Given the description of an element on the screen output the (x, y) to click on. 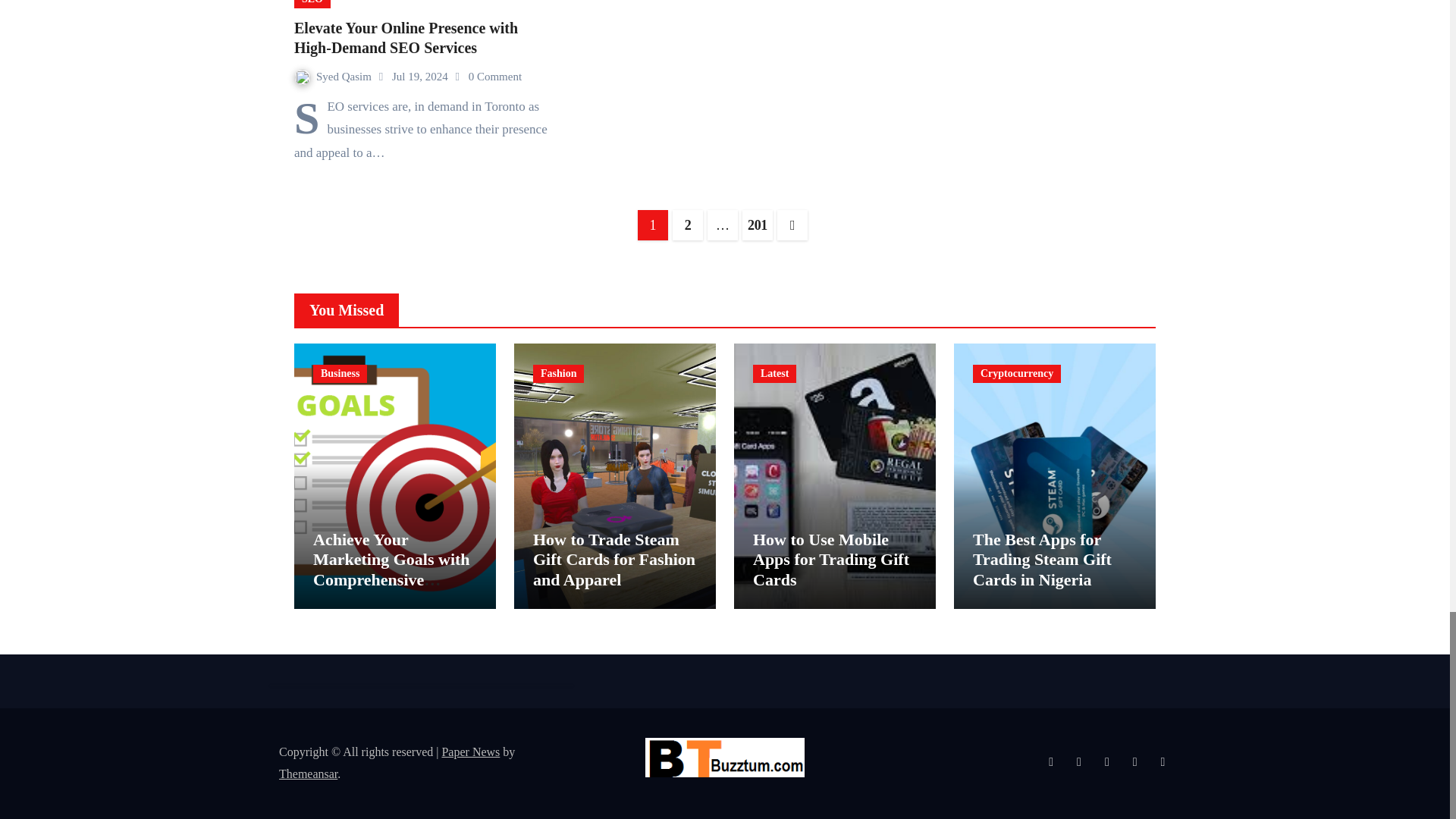
Permalink to: How to Use Mobile Apps for Trading Gift Cards (830, 558)
